Given the description of an element on the screen output the (x, y) to click on. 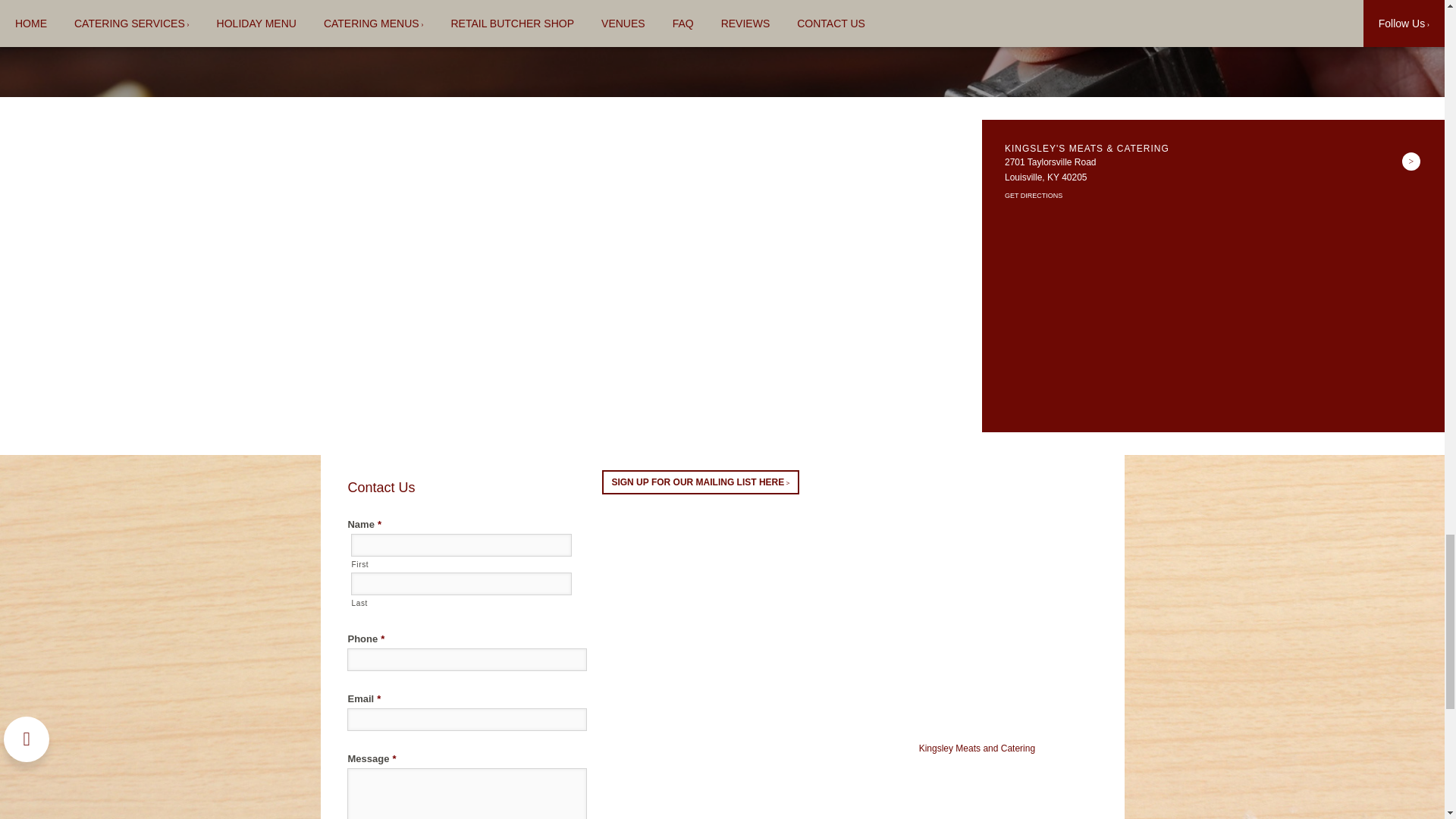
See Details (1411, 161)
